Given the description of an element on the screen output the (x, y) to click on. 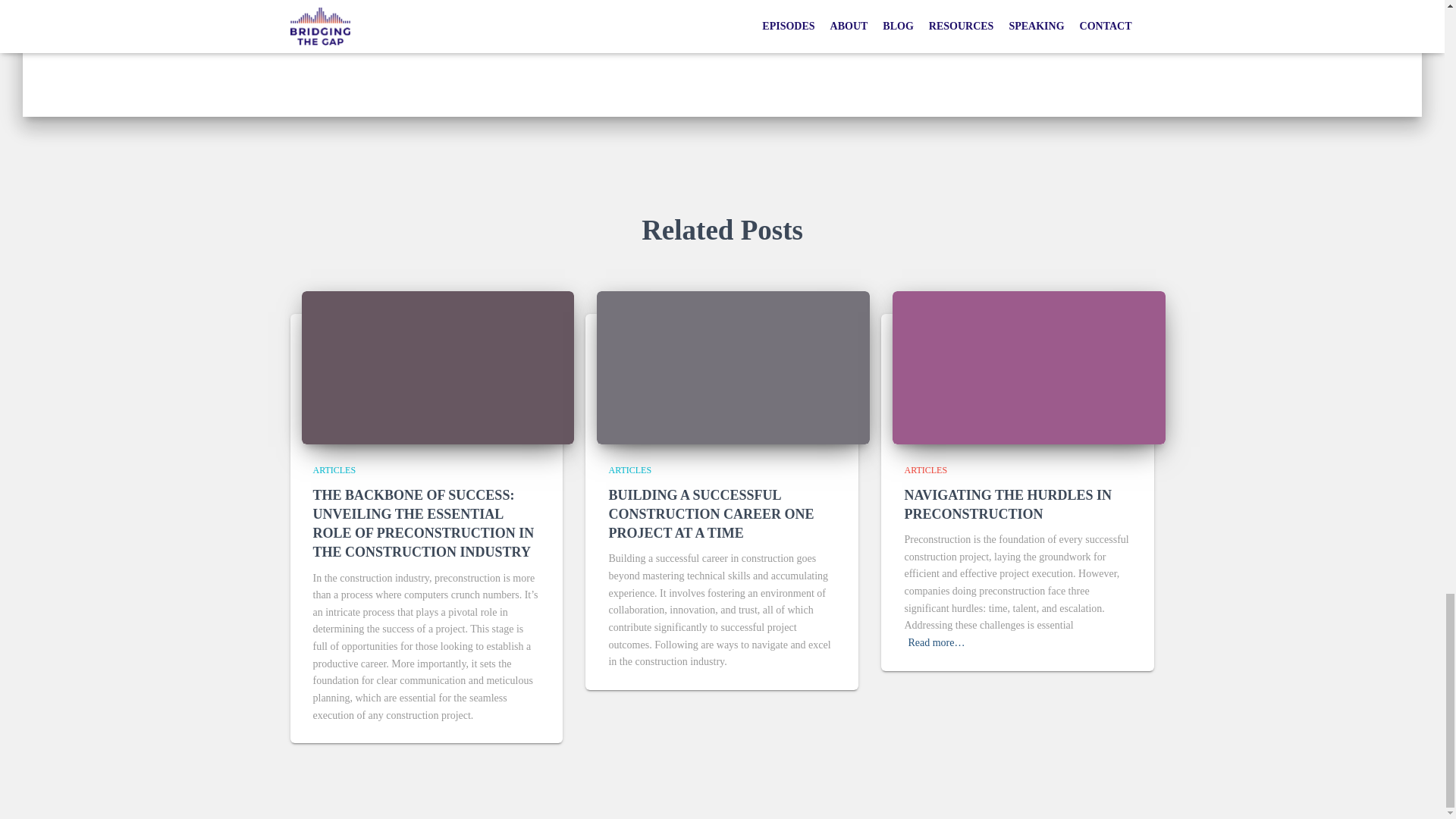
Navigating the Hurdles in Preconstruction (1029, 366)
View all posts in Articles (334, 470)
ARTICLES (522, 19)
View all posts in Articles (629, 470)
ARTICLES (629, 470)
Navigating the Hurdles in Preconstruction (1008, 504)
View all posts in Articles (925, 470)
NAVIGATING THE HURDLES IN PRECONSTRUCTION (1008, 504)
ARTICLES (925, 470)
ARTICLES (334, 470)
